Given the description of an element on the screen output the (x, y) to click on. 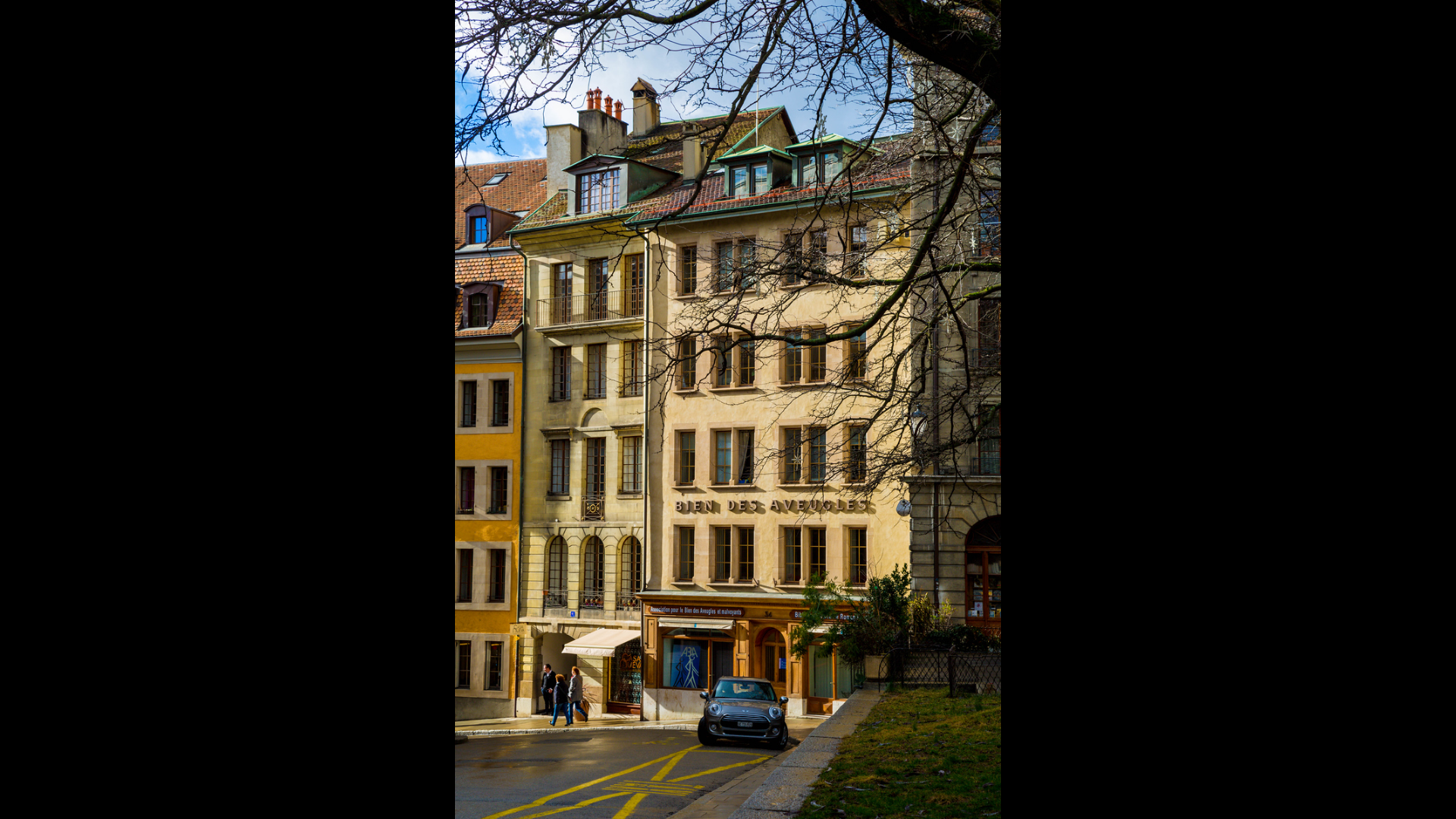
ABOUT Element type: text (1080, 134)
Share Gallery Element type: hover (1248, 175)
CONTACT Element type: text (1142, 134)
COUNTRIES Element type: text (910, 134)
BUY PHOTOS Element type: text (1371, 175)
MAP Element type: text (1031, 134)
EVENTS Element type: text (981, 134)
Slideshow Element type: hover (1285, 175)
SEARCH Element type: text (1208, 134)
